Given the description of an element on the screen output the (x, y) to click on. 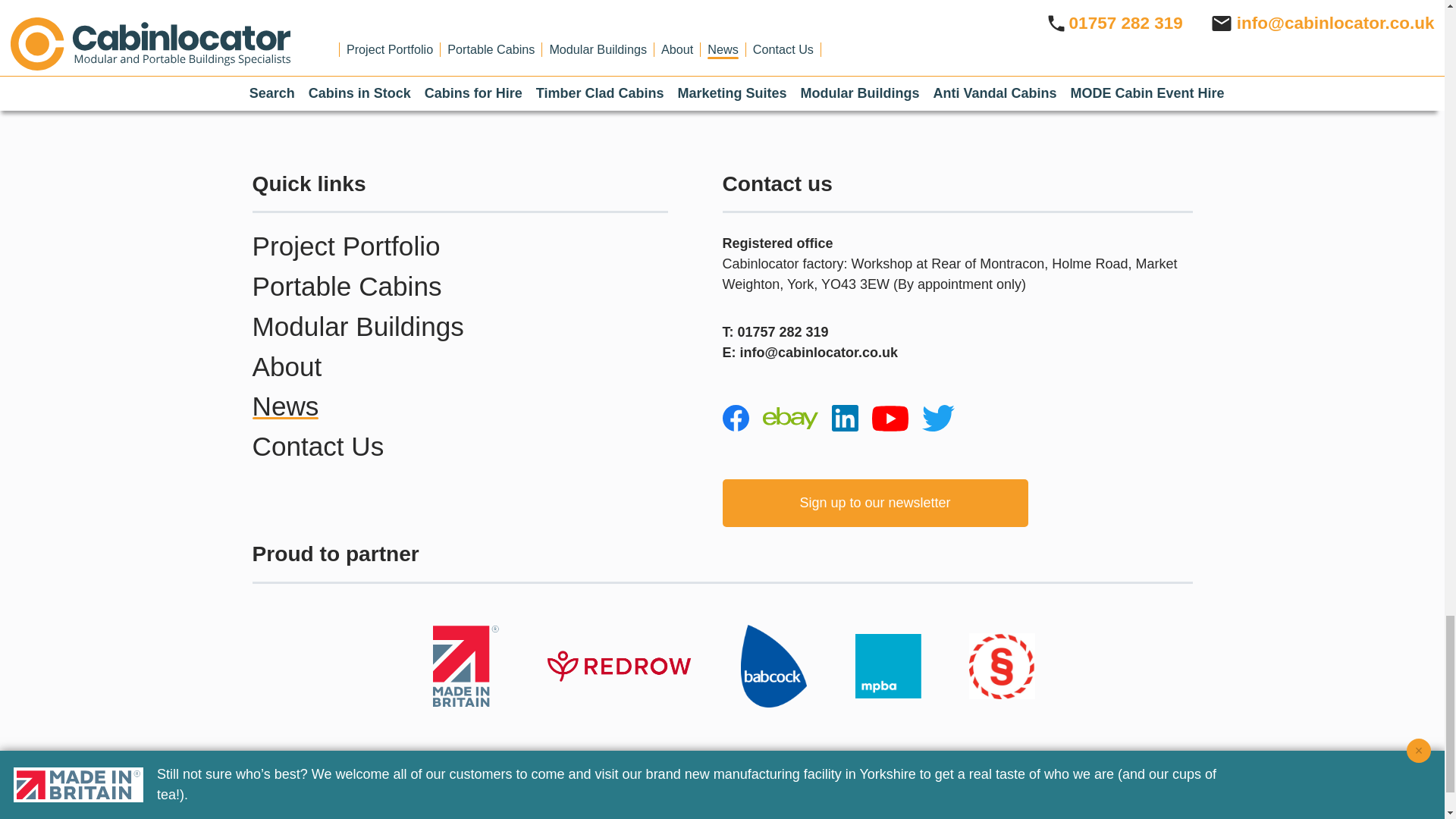
YouTube icon (890, 418)
Facebook icon (735, 417)
LinkedIn icon (844, 417)
Twitter icon (938, 418)
eBay icon (790, 417)
